Given the description of an element on the screen output the (x, y) to click on. 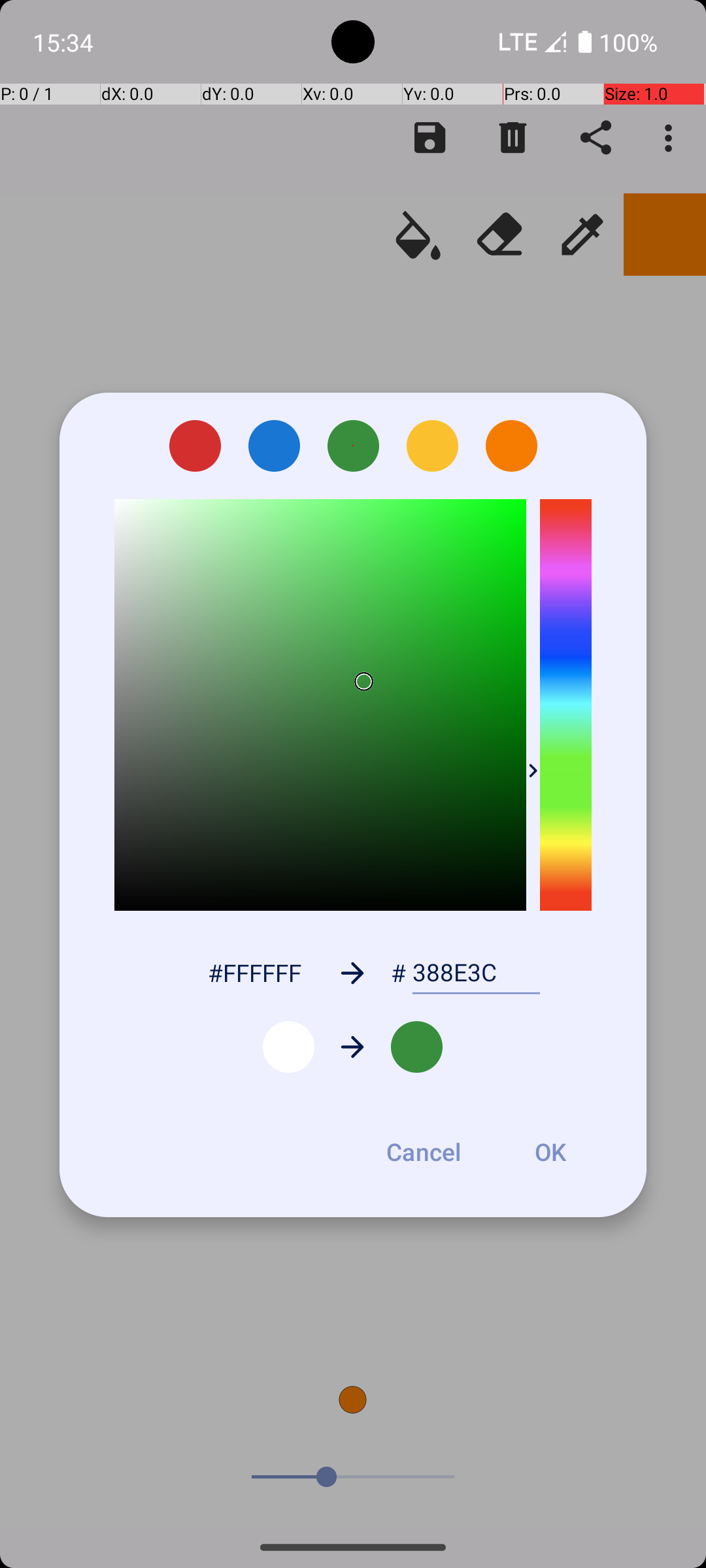
#FFFFFF Element type: android.widget.TextView (254, 972)
388E3C Element type: android.widget.EditText (475, 972)
